Given the description of an element on the screen output the (x, y) to click on. 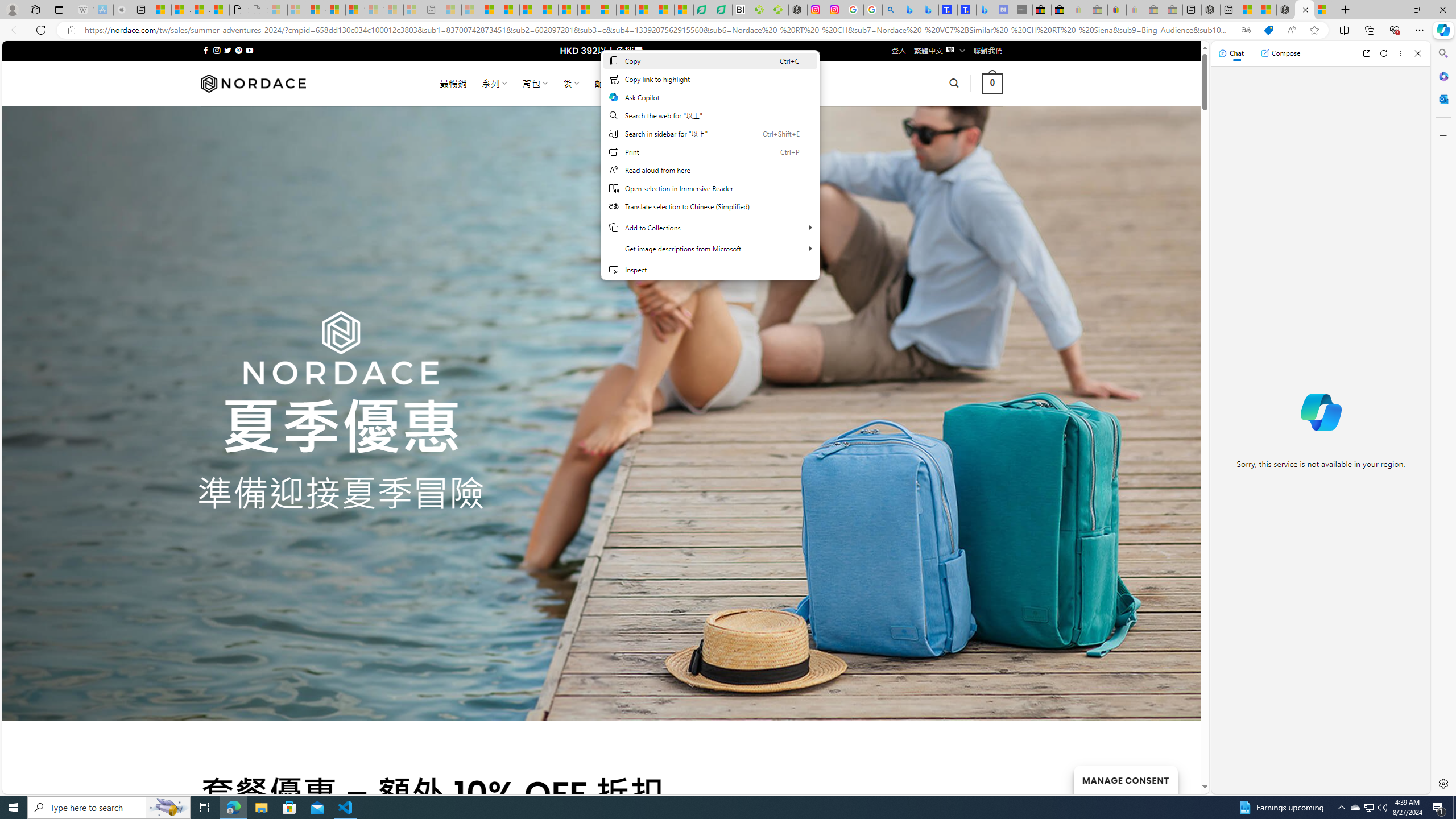
Nvidia va a poner a prueba la paciencia de los inversores (741, 9)
Marine life - MSN - Sleeping (471, 9)
Follow on Twitter (227, 50)
Payments Terms of Use | eBay.com - Sleeping (1135, 9)
Web context (710, 165)
